Given the description of an element on the screen output the (x, y) to click on. 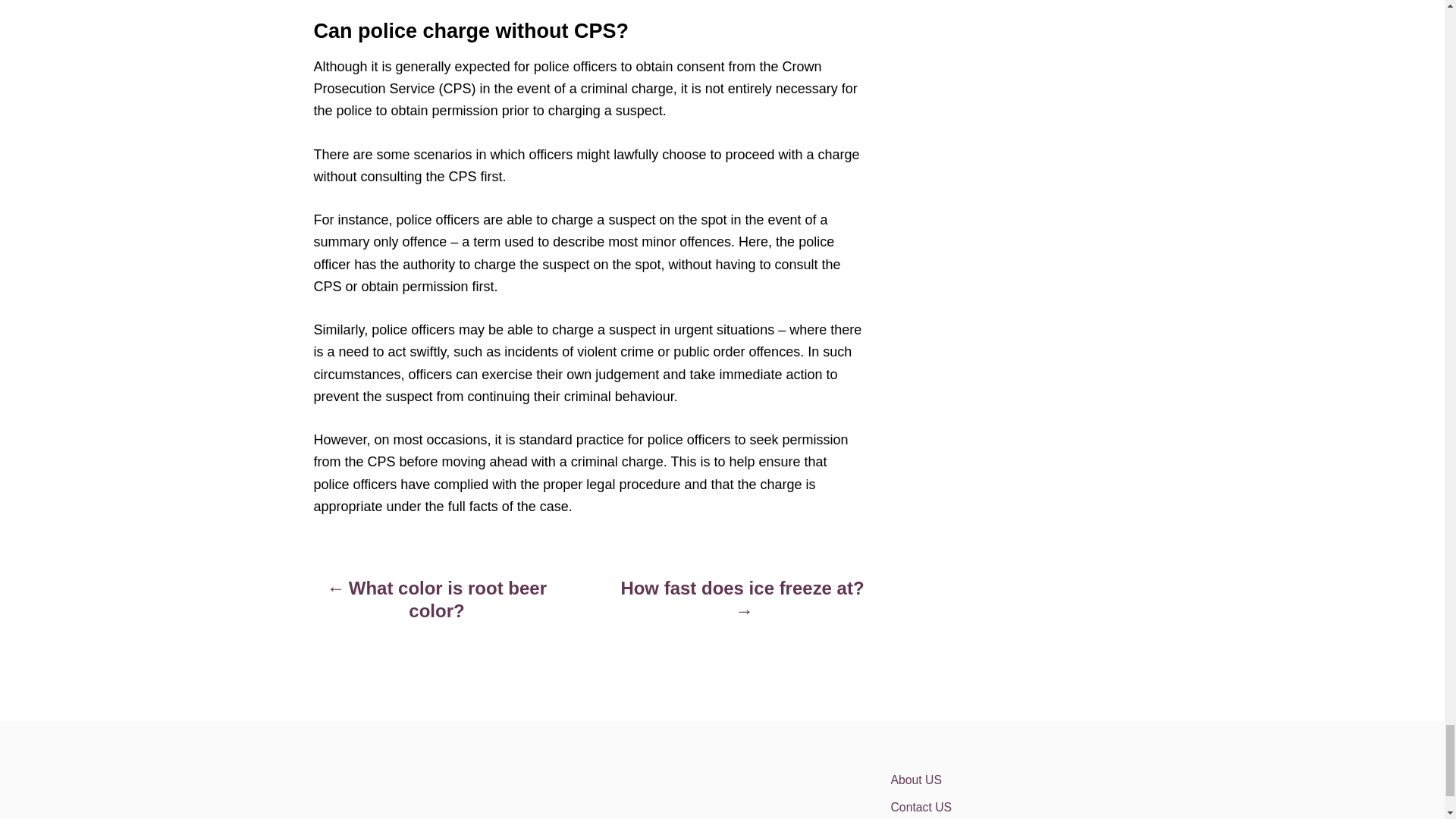
How fast does ice freeze at? (741, 607)
Contact US (1021, 806)
About US (1021, 779)
What color is root beer color? (437, 607)
